Given the description of an element on the screen output the (x, y) to click on. 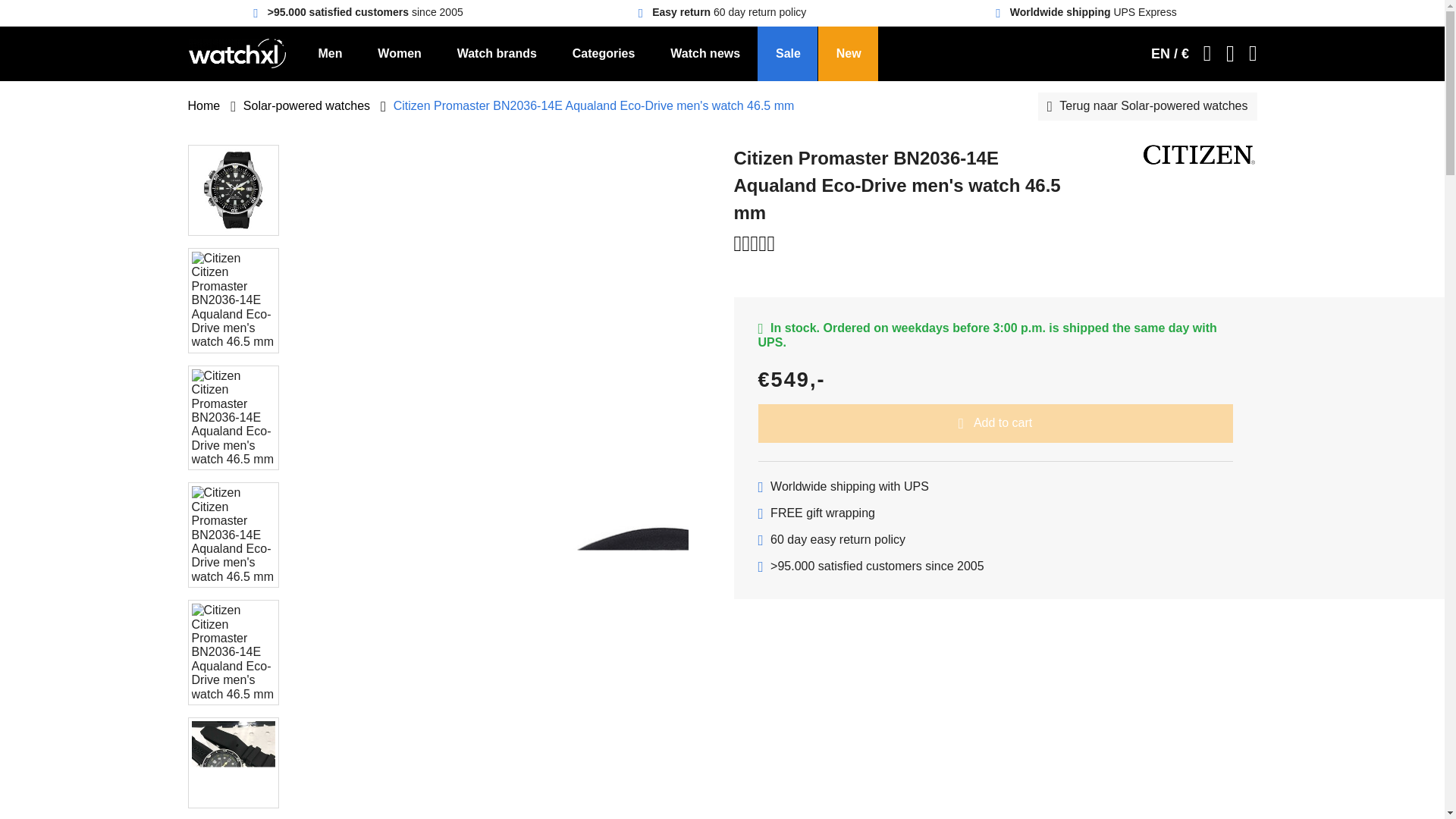
Men (333, 53)
Women (398, 53)
Categories (603, 53)
Watch brands (496, 53)
